Given the description of an element on the screen output the (x, y) to click on. 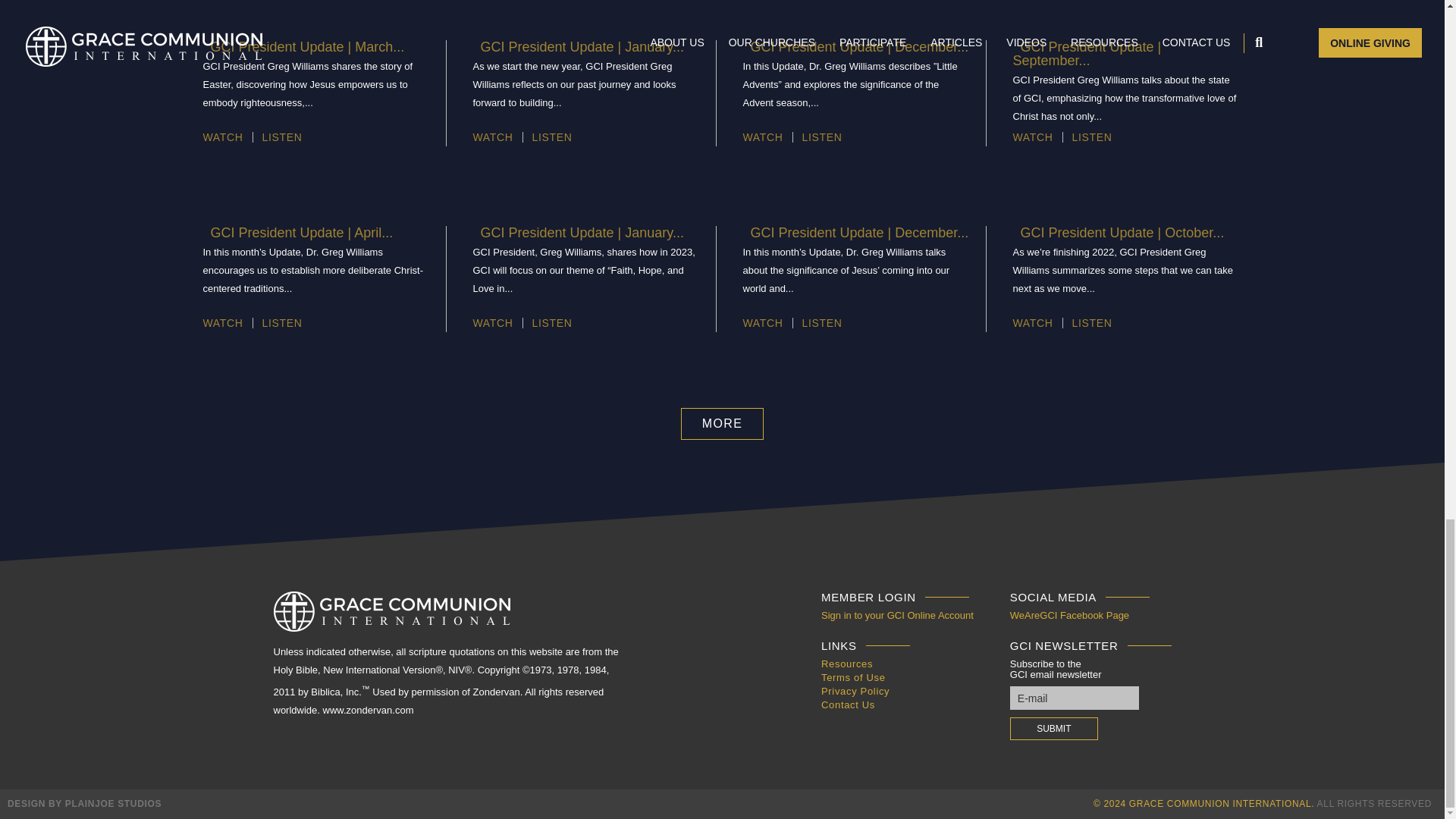
Design by Plain Joe Studios (84, 803)
Submit (1053, 728)
